Given the description of an element on the screen output the (x, y) to click on. 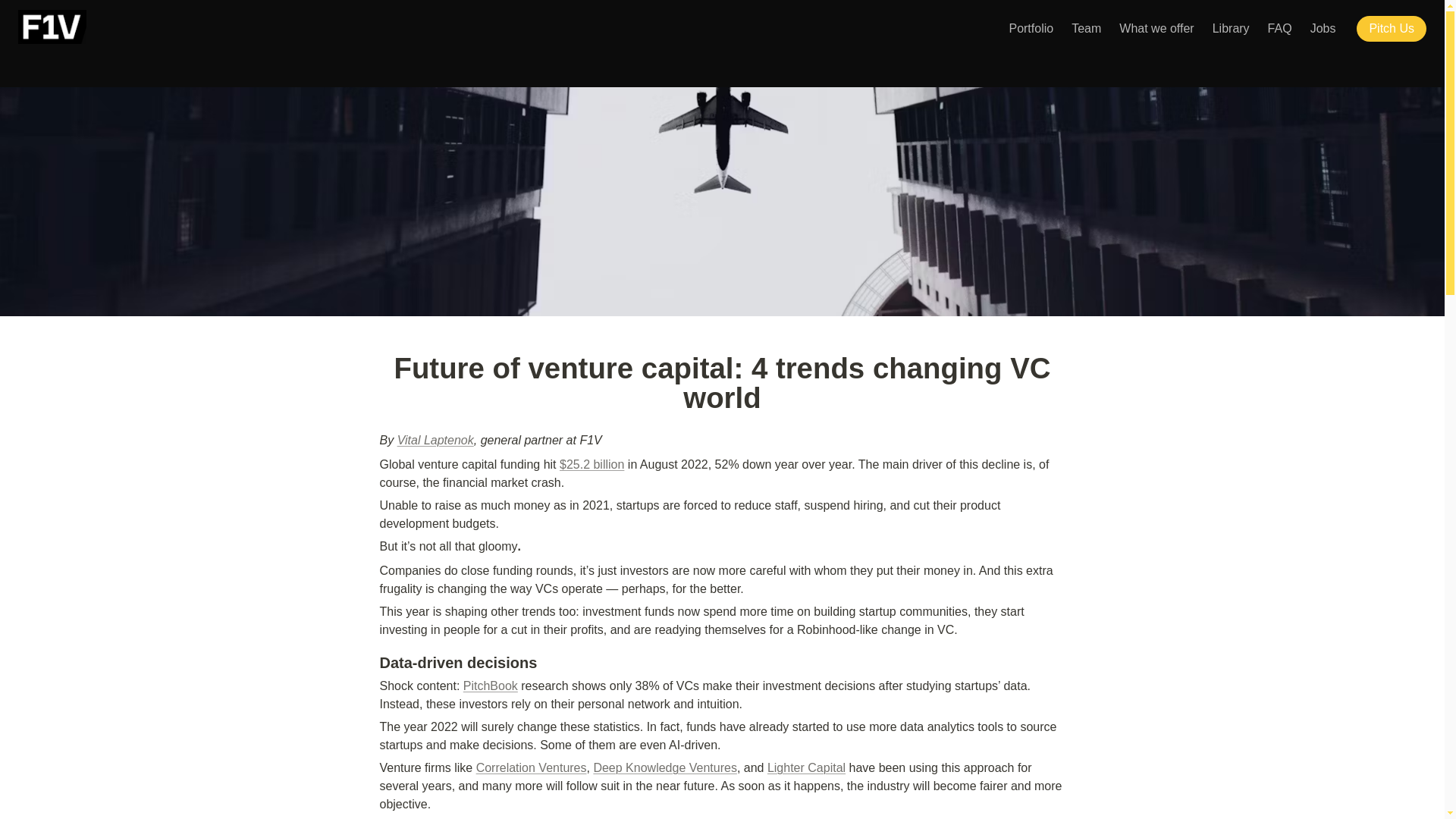
FAQ (1280, 27)
Library (1231, 27)
Jobs (1323, 27)
Deep Knowledge Ventures (664, 767)
Correlation Ventures (531, 767)
Lighter Capital (806, 767)
Pitch Us (1394, 27)
Portfolio (1030, 27)
What we offer (1155, 27)
Team (1085, 27)
